Given the description of an element on the screen output the (x, y) to click on. 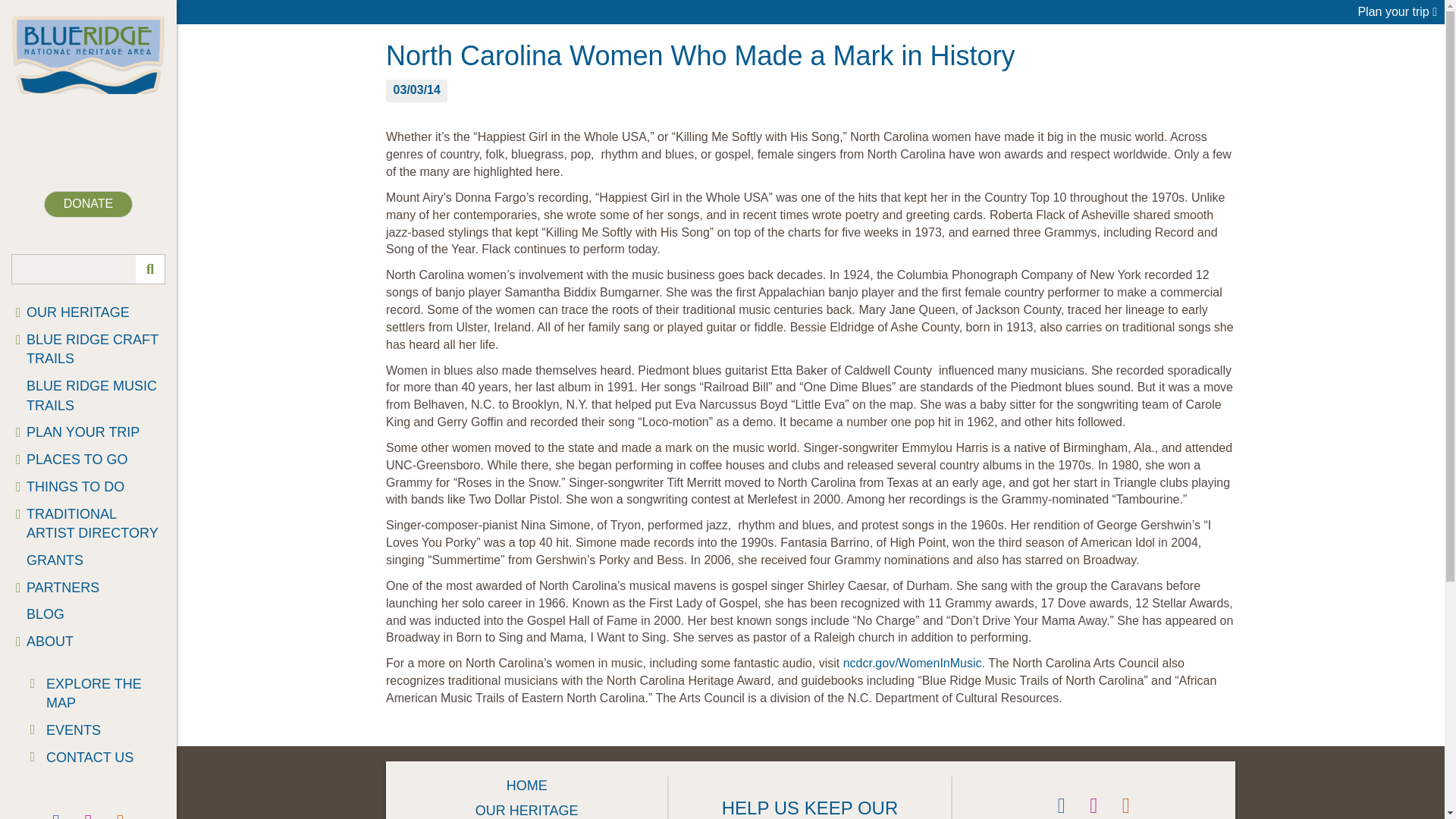
DONATE (87, 203)
Donate (87, 203)
Search (88, 268)
Search Submit (149, 268)
OUR HERITAGE (88, 312)
